Given the description of an element on the screen output the (x, y) to click on. 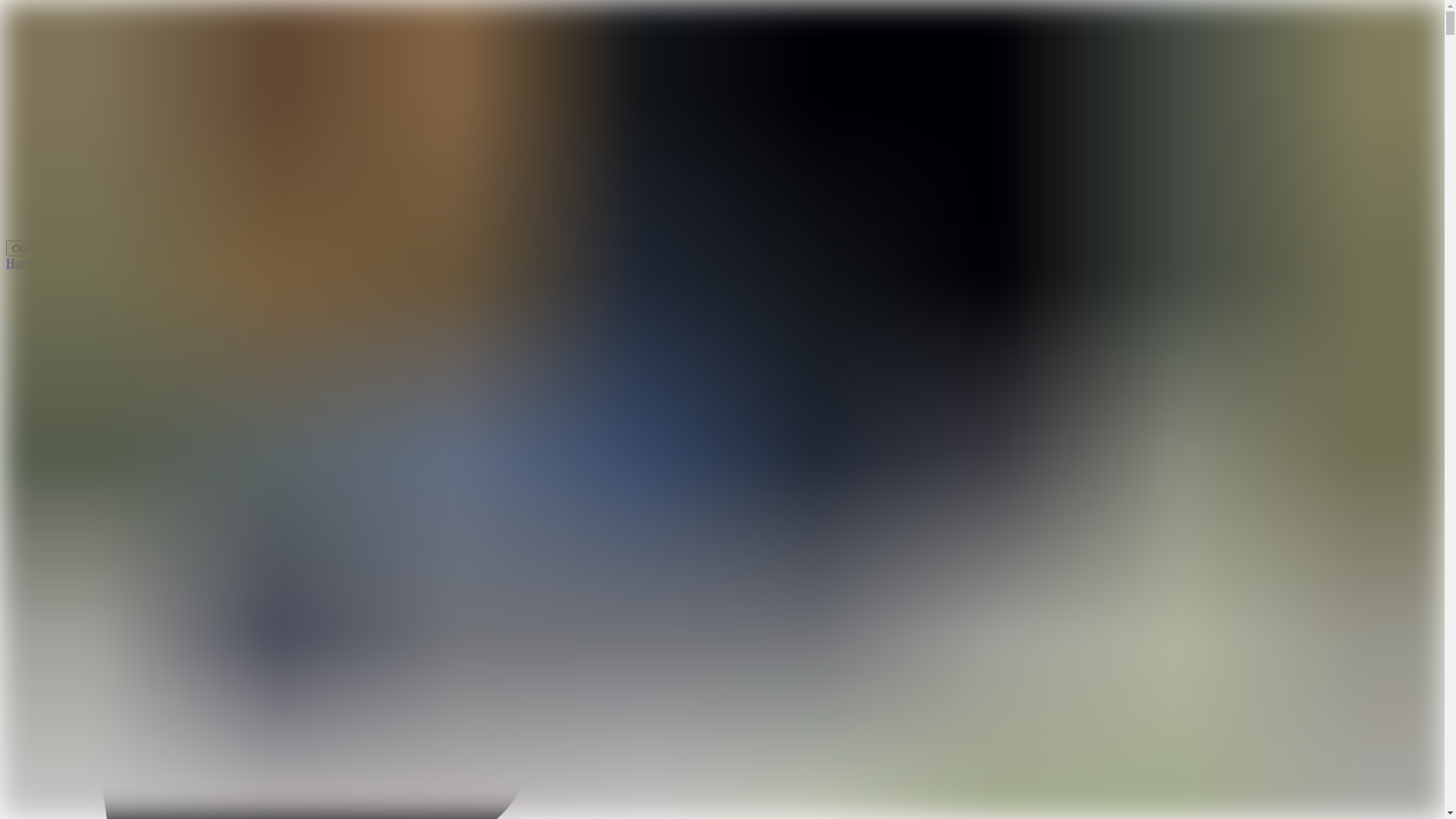
Open main menu Element type: text (50, 248)
Diensten Element type: text (100, 262)
Home Element type: text (20, 262)
Over ons Element type: text (57, 262)
